Given the description of an element on the screen output the (x, y) to click on. 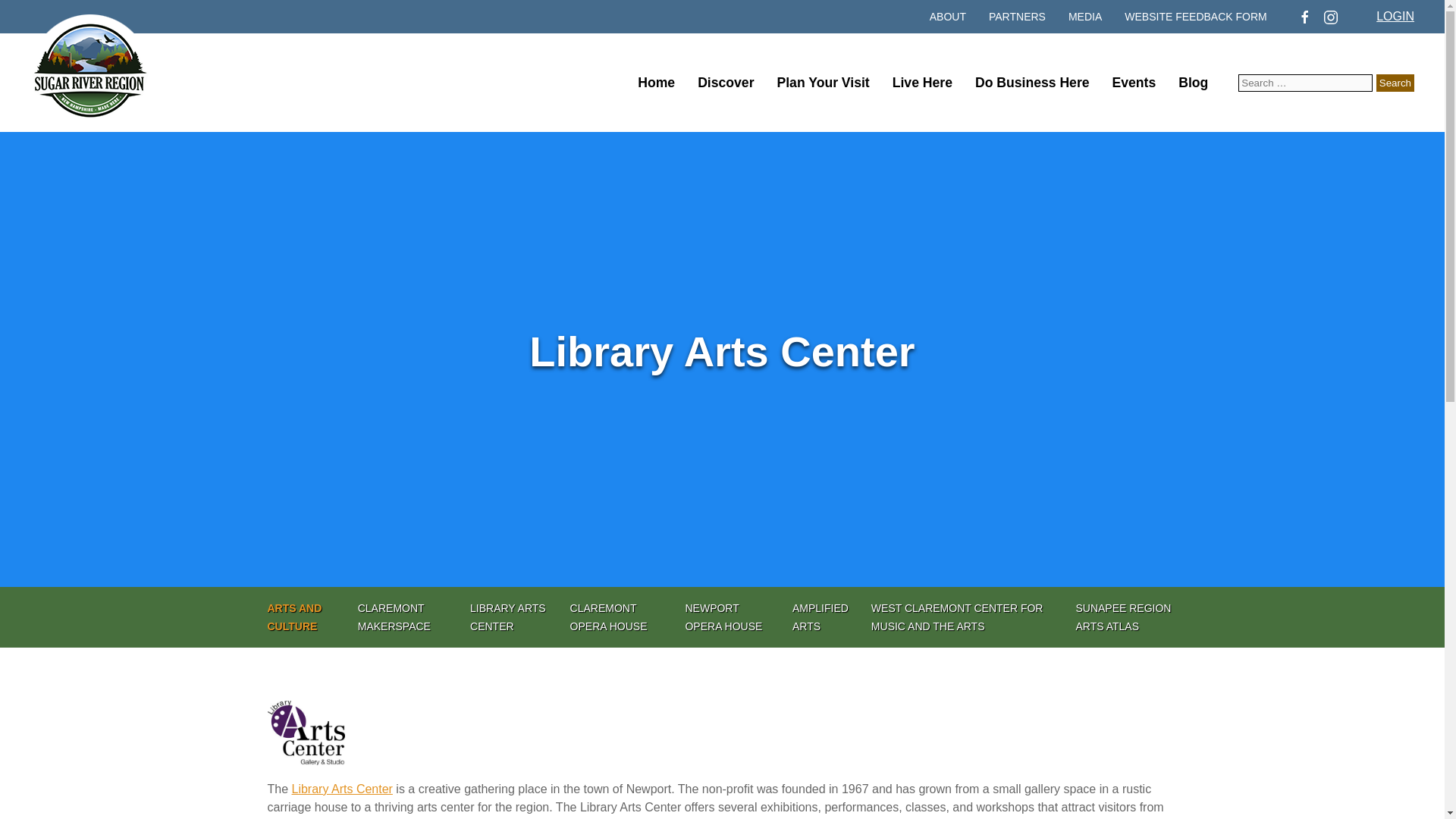
Search (1394, 82)
LOGIN (1394, 15)
ABOUT (948, 16)
Search (1394, 82)
Live Here (922, 82)
Search (1394, 82)
Discover (725, 82)
PARTNERS (1016, 16)
Plan Your Visit (822, 82)
Do Business Here (1032, 82)
